Given the description of an element on the screen output the (x, y) to click on. 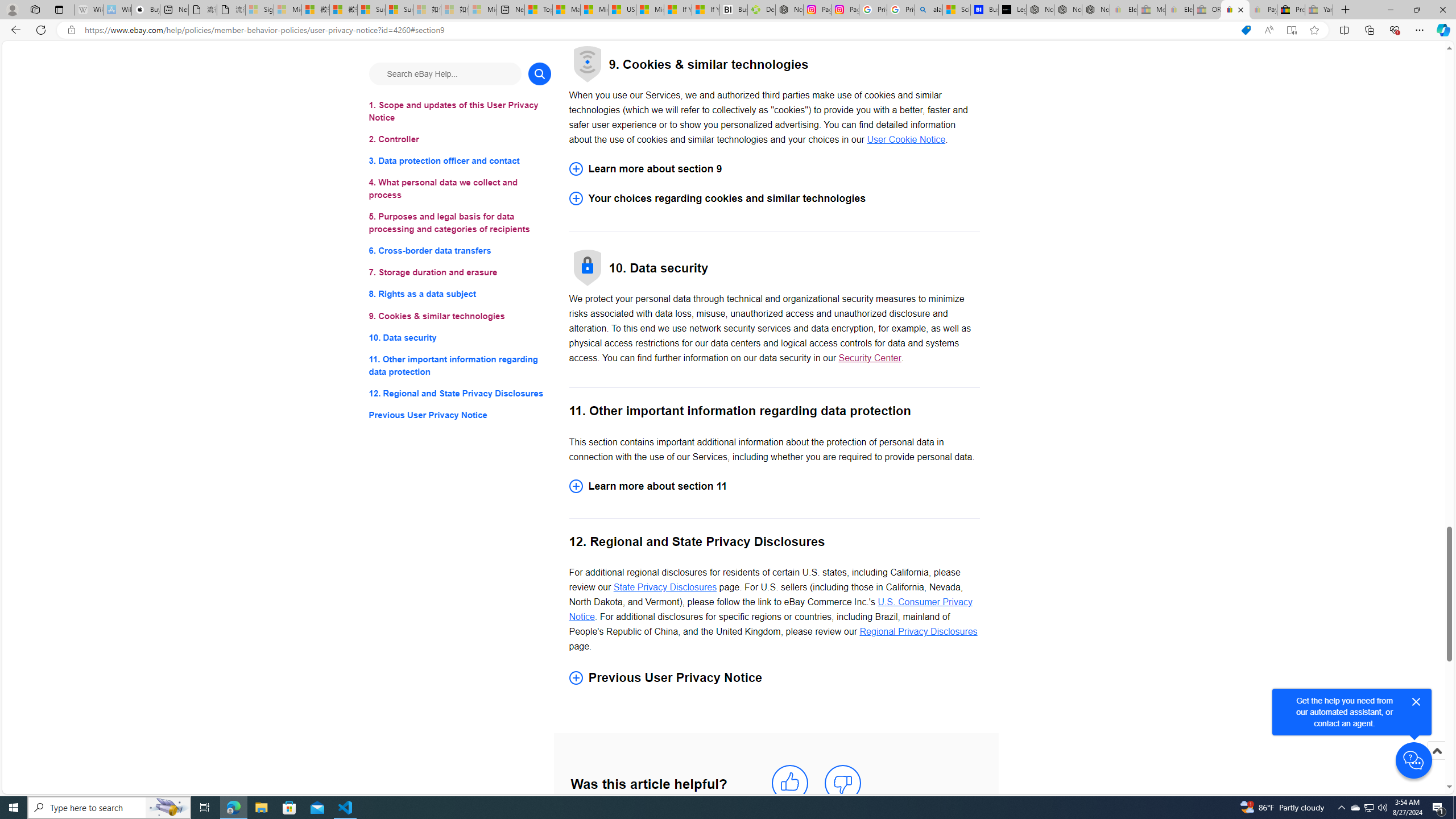
Learn more about section 11 (774, 485)
Previous User Privacy Notice (459, 414)
6. Cross-border data transfers (459, 250)
3. Data protection officer and contact (459, 160)
